Given the description of an element on the screen output the (x, y) to click on. 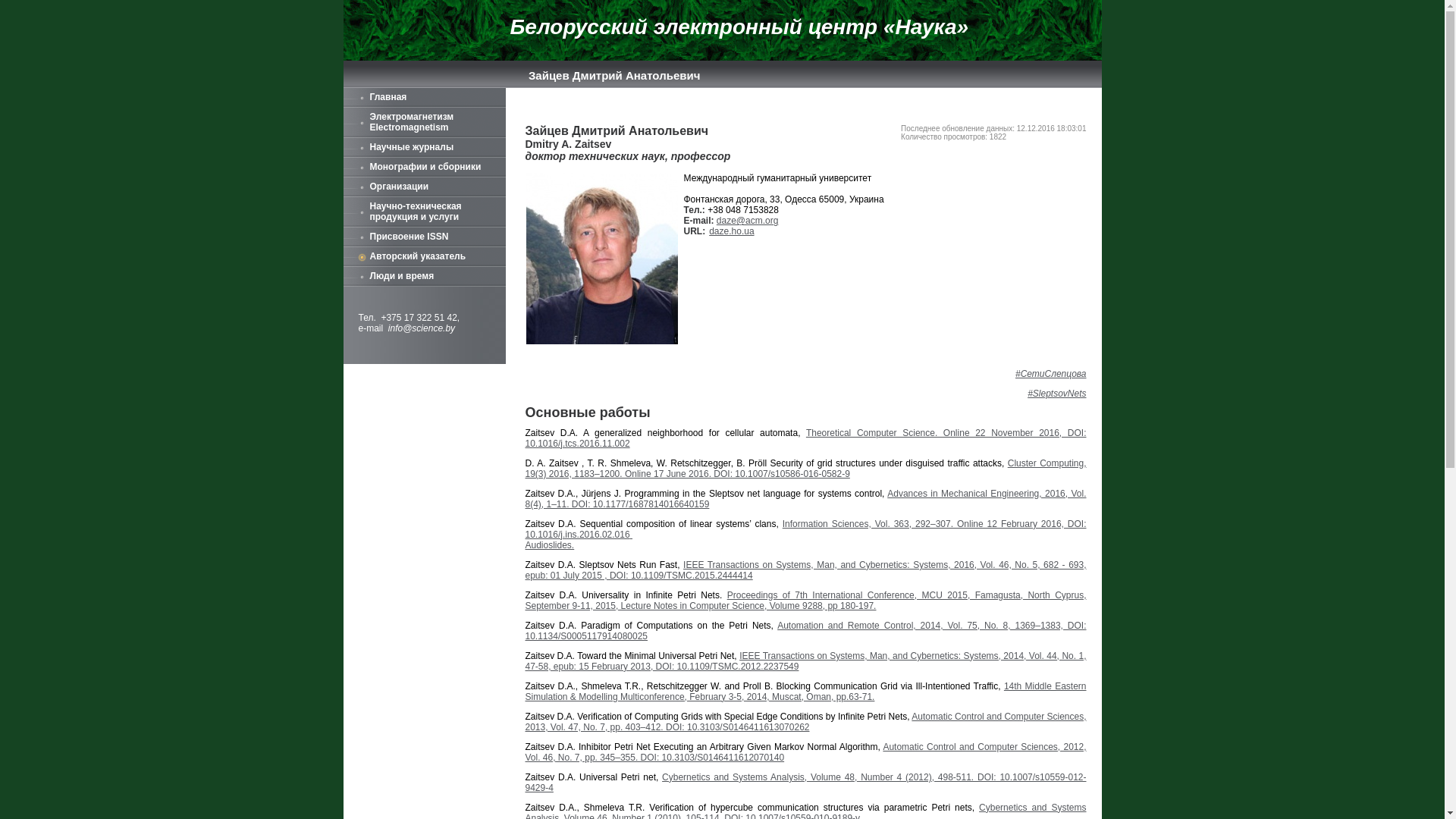
daze@acm.org Element type: text (747, 220)
daze.ho.ua Element type: text (731, 230)
#SleptsovNets Element type: text (1056, 393)
Audioslides. Element type: text (549, 544)
